Given the description of an element on the screen output the (x, y) to click on. 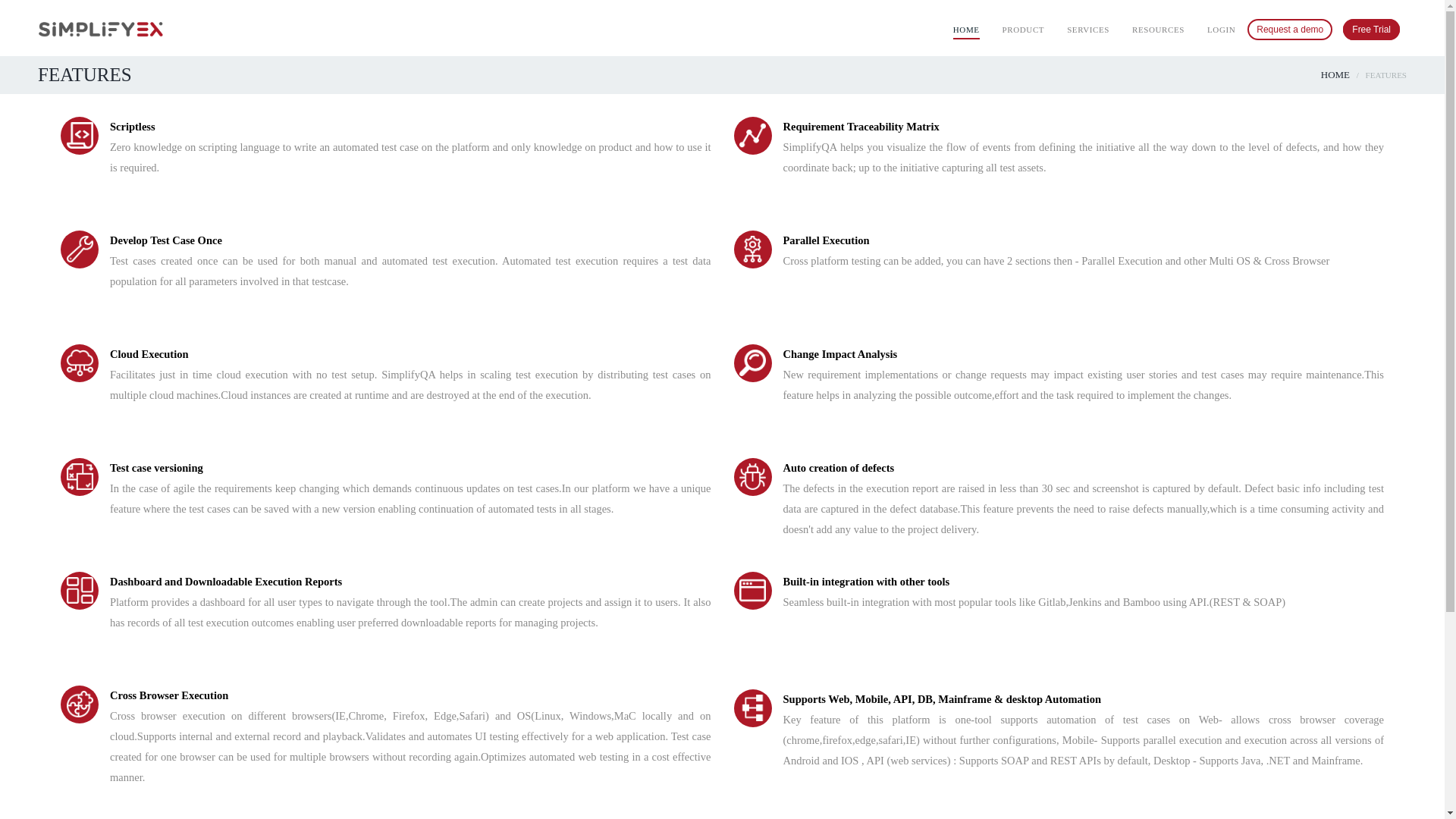
SERVICES (1088, 29)
LOGIN (1220, 29)
Free Trial (1370, 29)
Request a demo (1289, 29)
PRODUCT (1024, 29)
HOME (966, 30)
RESOURCES (1158, 29)
